Given the description of an element on the screen output the (x, y) to click on. 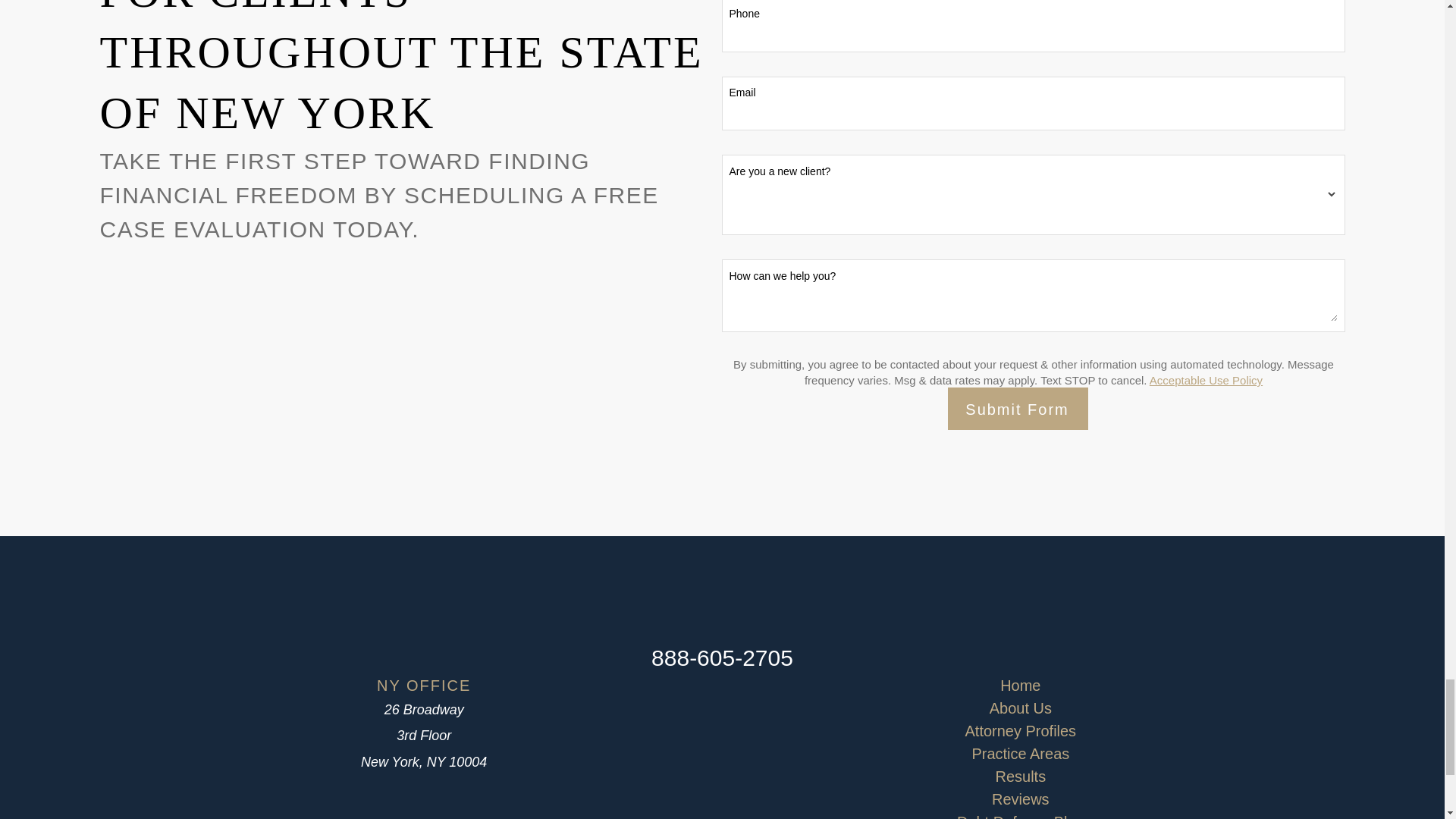
Google Business Profile (683, 694)
Twitter (759, 694)
Facebook (721, 694)
